Given the description of an element on the screen output the (x, y) to click on. 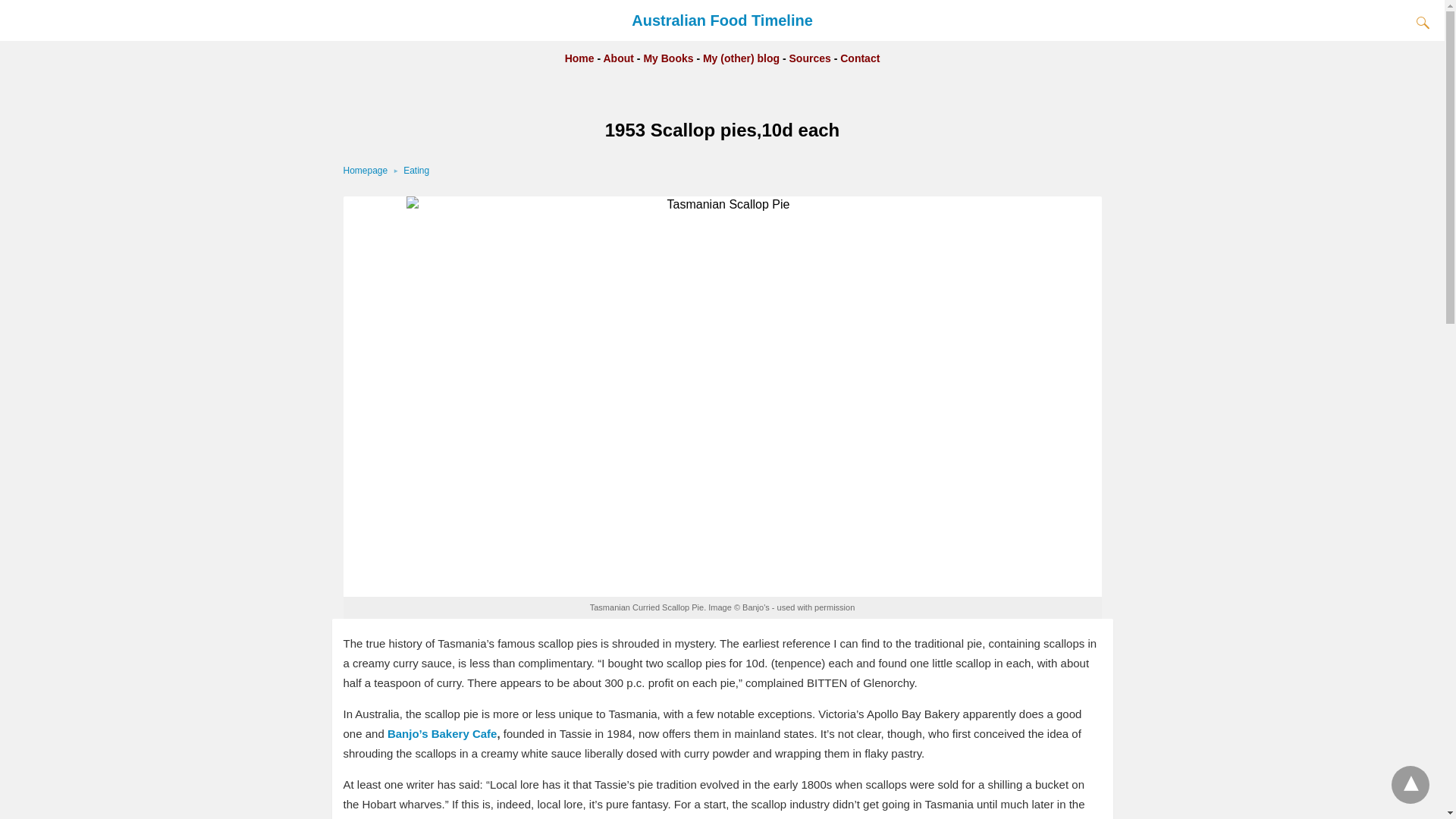
My Books (669, 58)
About (619, 58)
Homepage (372, 170)
back to top (1410, 784)
Homepage (372, 170)
Home (579, 58)
Contact (859, 58)
Australian Food Timeline (721, 20)
Eating (416, 170)
Sources (810, 58)
